Given the description of an element on the screen output the (x, y) to click on. 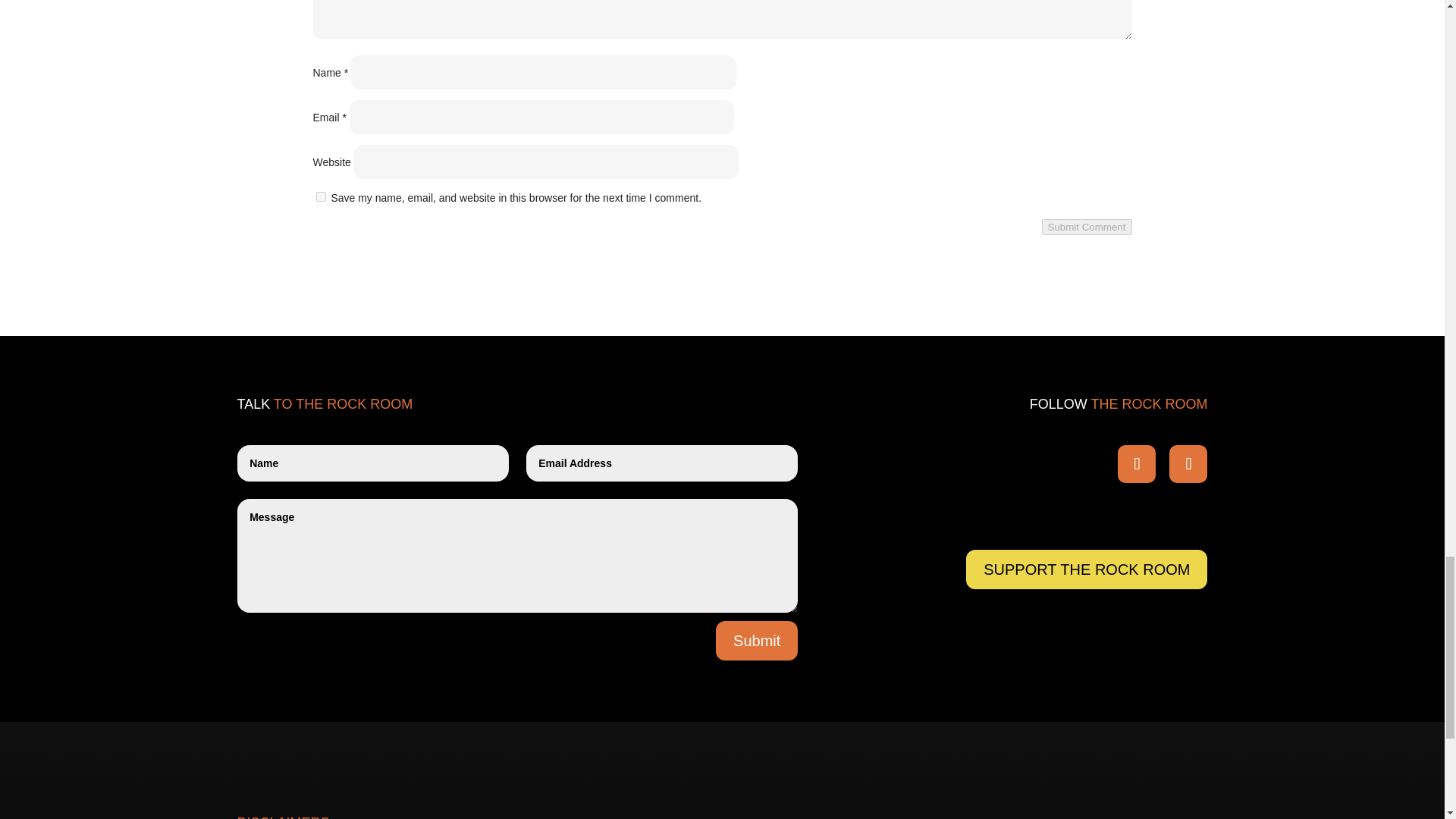
Submit (756, 640)
SUPPORT THE ROCK ROOM (1086, 568)
Follow on Facebook (1137, 464)
Follow on Instagram (1188, 464)
Submit Comment (1087, 227)
yes (319, 196)
